Given the description of an element on the screen output the (x, y) to click on. 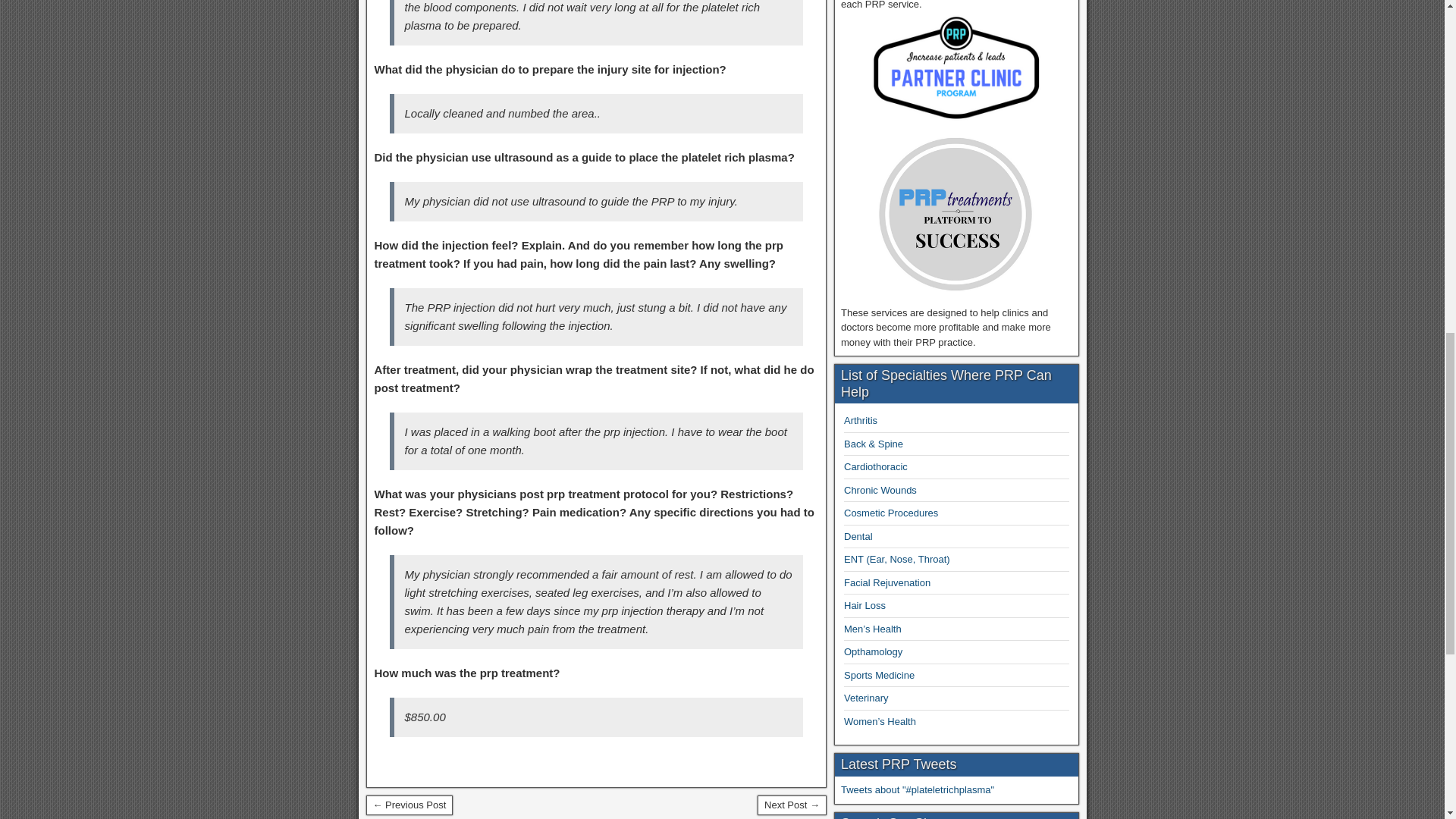
NBA Superstar Kobe Bryant Gets PRP Treatment Done (408, 804)
PRP Treatment for Hair Loss (864, 604)
